Given the description of an element on the screen output the (x, y) to click on. 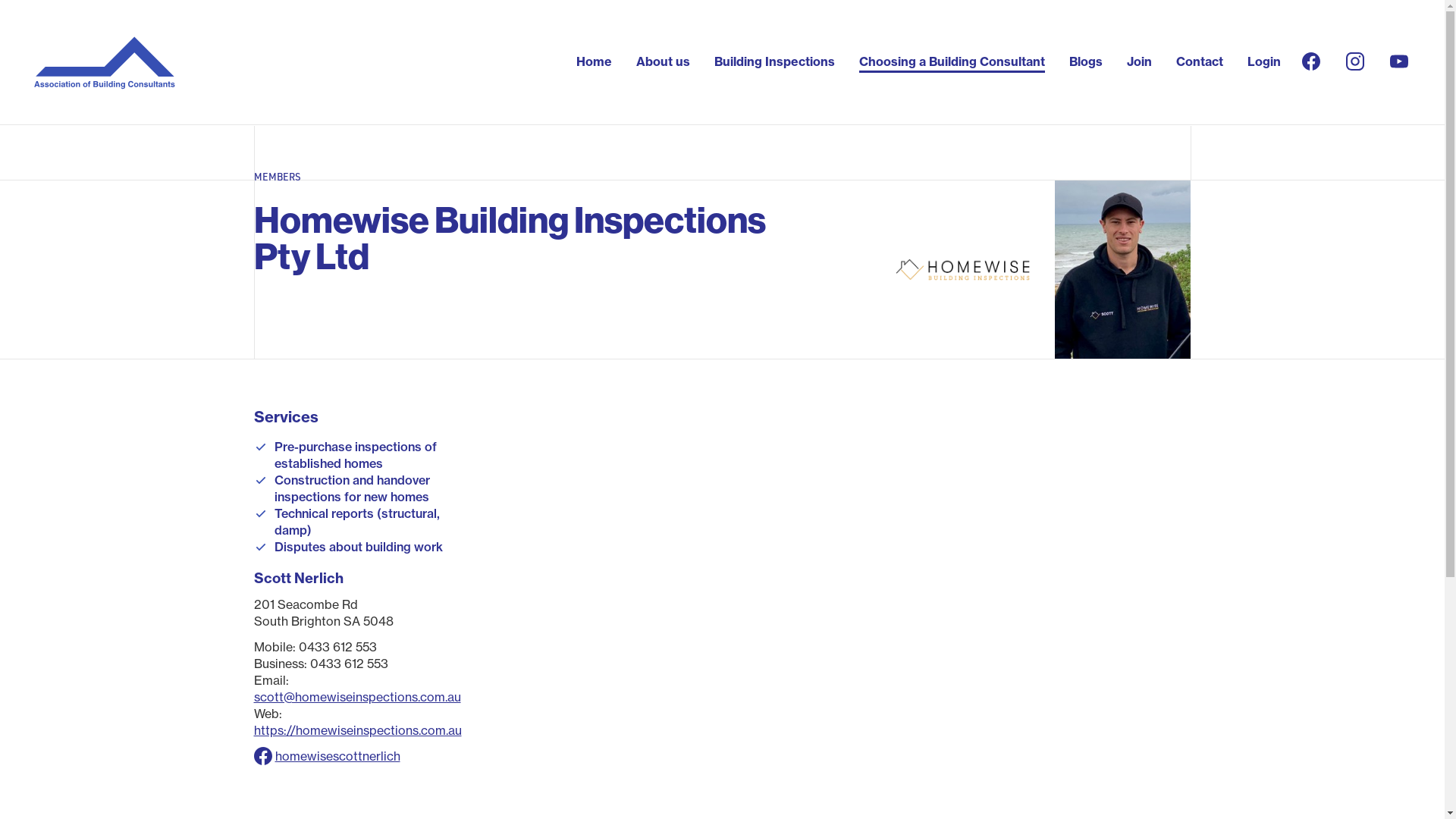
Contact Element type: text (1199, 61)
homewisescottnerlich Element type: text (336, 755)
Building Inspections Element type: text (774, 61)
scott@homewiseinspections.com.au Element type: text (356, 696)
Join Element type: text (1139, 61)
Login Element type: text (1263, 61)
Home Element type: text (594, 61)
MEMBERS Element type: text (276, 175)
Choosing a Building Consultant Element type: text (952, 61)
https://homewiseinspections.com.au Element type: text (357, 729)
About us Element type: text (663, 61)
Blogs Element type: text (1085, 61)
